Given the description of an element on the screen output the (x, y) to click on. 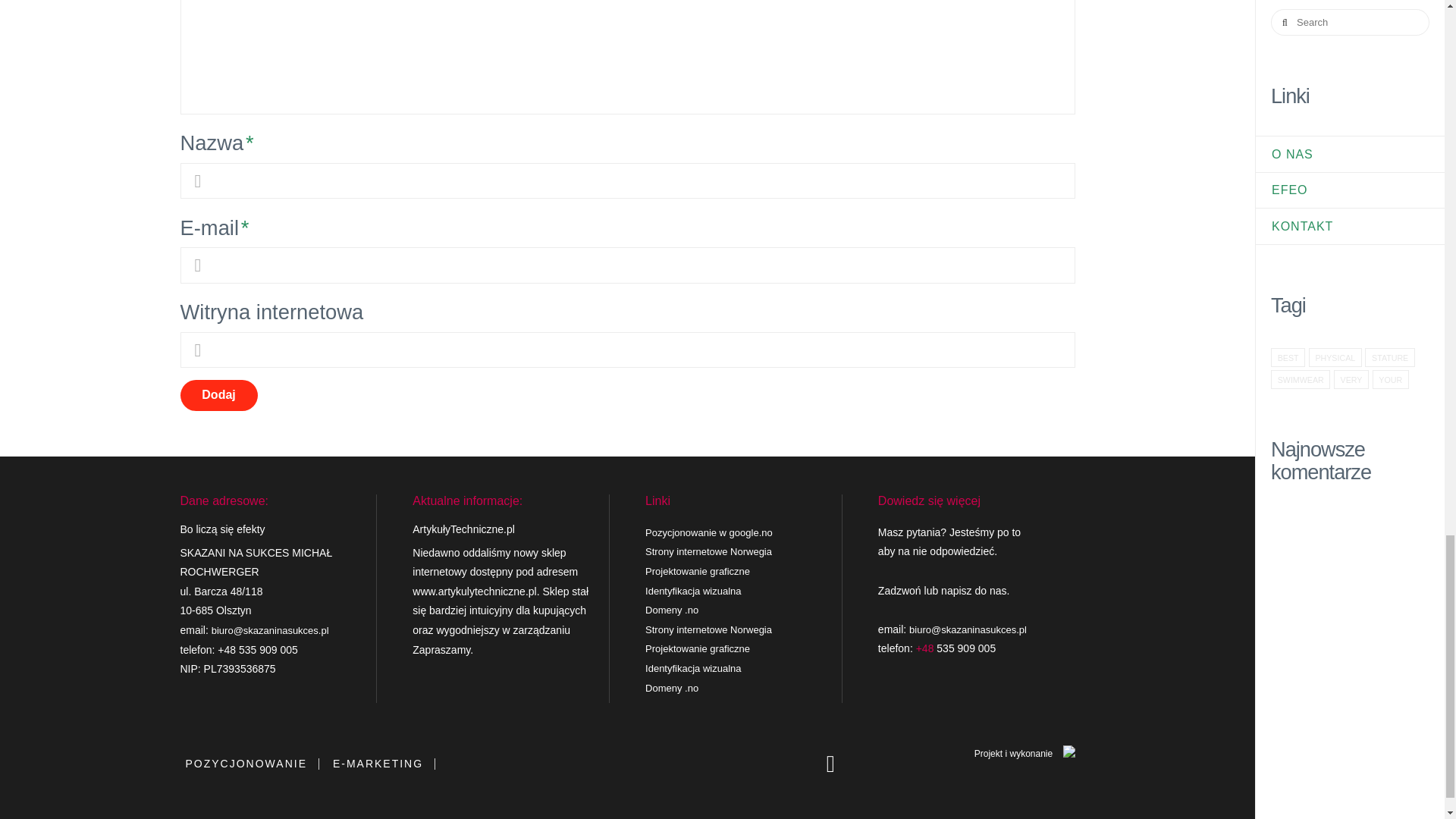
Pozycjonowanie w google.no (709, 532)
Dodaj (218, 395)
Identyfikacja wizualna (693, 668)
Domeny .no (671, 609)
Projektowanie graficzne (697, 648)
Identyfikacja wizualna (693, 591)
Projektowanie graficzne (697, 571)
Strony internetowe Norwegia (708, 551)
Dodaj (218, 395)
Domeny .no (671, 687)
Strony internetowe Norwegia (708, 629)
